Given the description of an element on the screen output the (x, y) to click on. 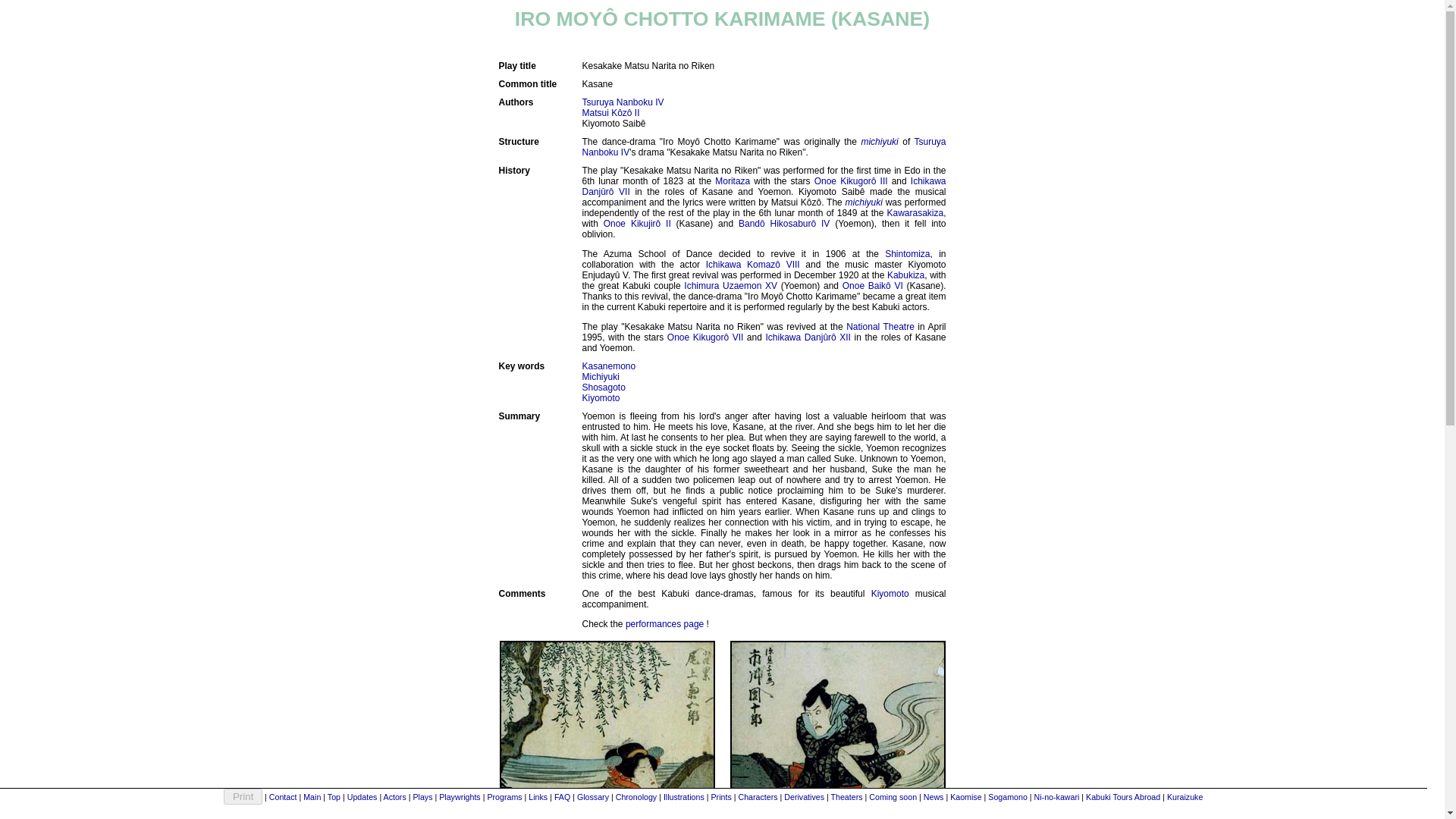
Theaters (847, 796)
Shintomiza (907, 253)
Tsuruya Nanboku IV (764, 147)
Ichimura Uzaemon XV (730, 285)
Kaomise (965, 796)
Playwrights (459, 796)
FAQ (562, 796)
Actors (395, 796)
Kabuki Tours Abroad (1123, 796)
Characters (757, 796)
Derivatives (804, 796)
Updates (362, 796)
Chronology (636, 796)
Top (333, 796)
Programs (503, 796)
